Given the description of an element on the screen output the (x, y) to click on. 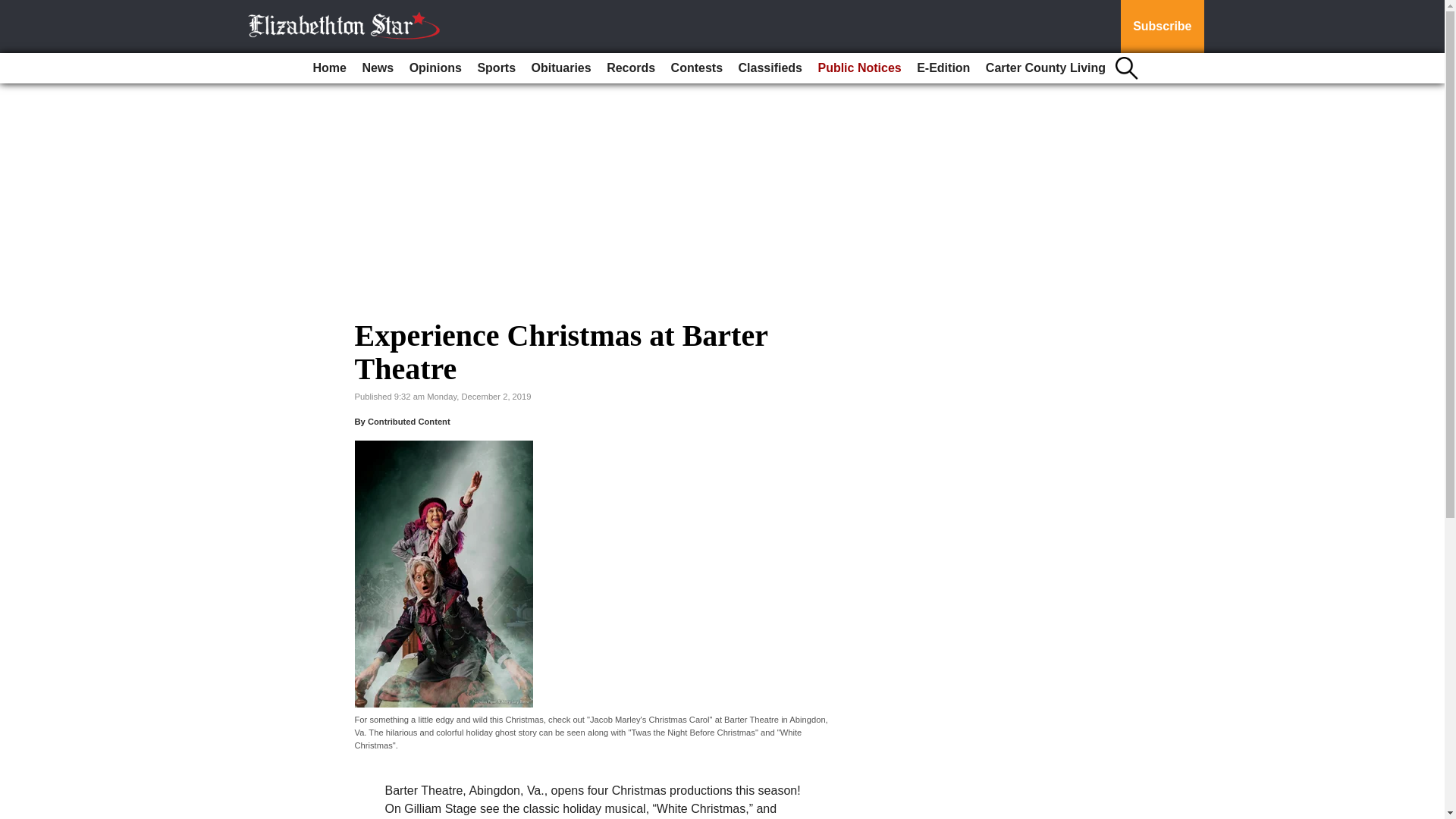
Go (13, 9)
Home (328, 68)
News (376, 68)
Public Notices (858, 68)
Opinions (435, 68)
Obituaries (560, 68)
Carter County Living (1045, 68)
E-Edition (943, 68)
Subscribe (1162, 26)
Contributed Content (408, 420)
